Given the description of an element on the screen output the (x, y) to click on. 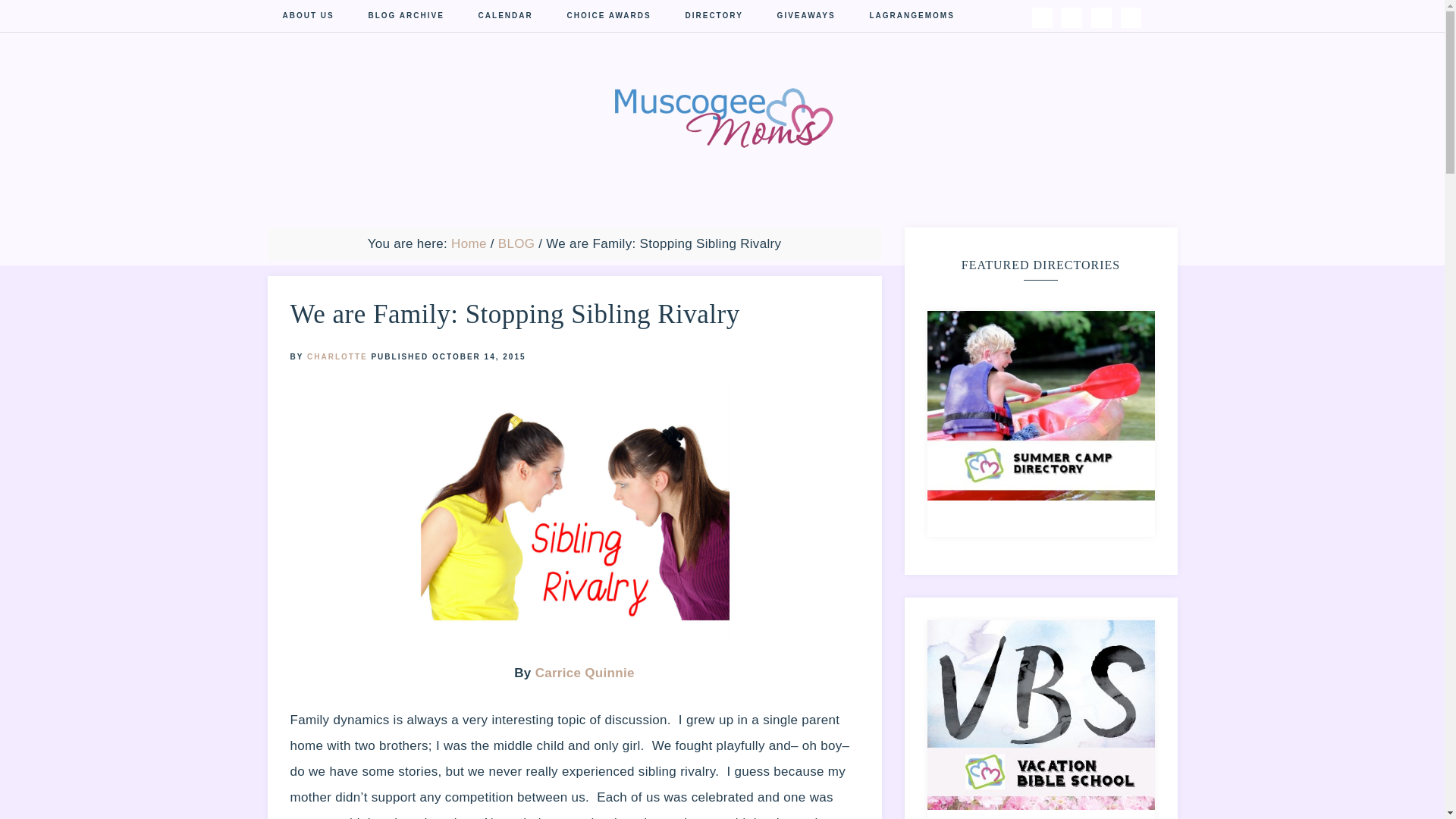
CHARLOTTE (337, 356)
ABOUT US (307, 17)
CHOICE AWARDS (608, 17)
LAGRANGEMOMS (911, 17)
DIRECTORY (713, 17)
BLOG (515, 243)
CALENDAR (505, 17)
Home (468, 243)
BLOG ARCHIVE (406, 17)
Carrice Quinnie (584, 672)
GIVEAWAYS (805, 17)
